Given the description of an element on the screen output the (x, y) to click on. 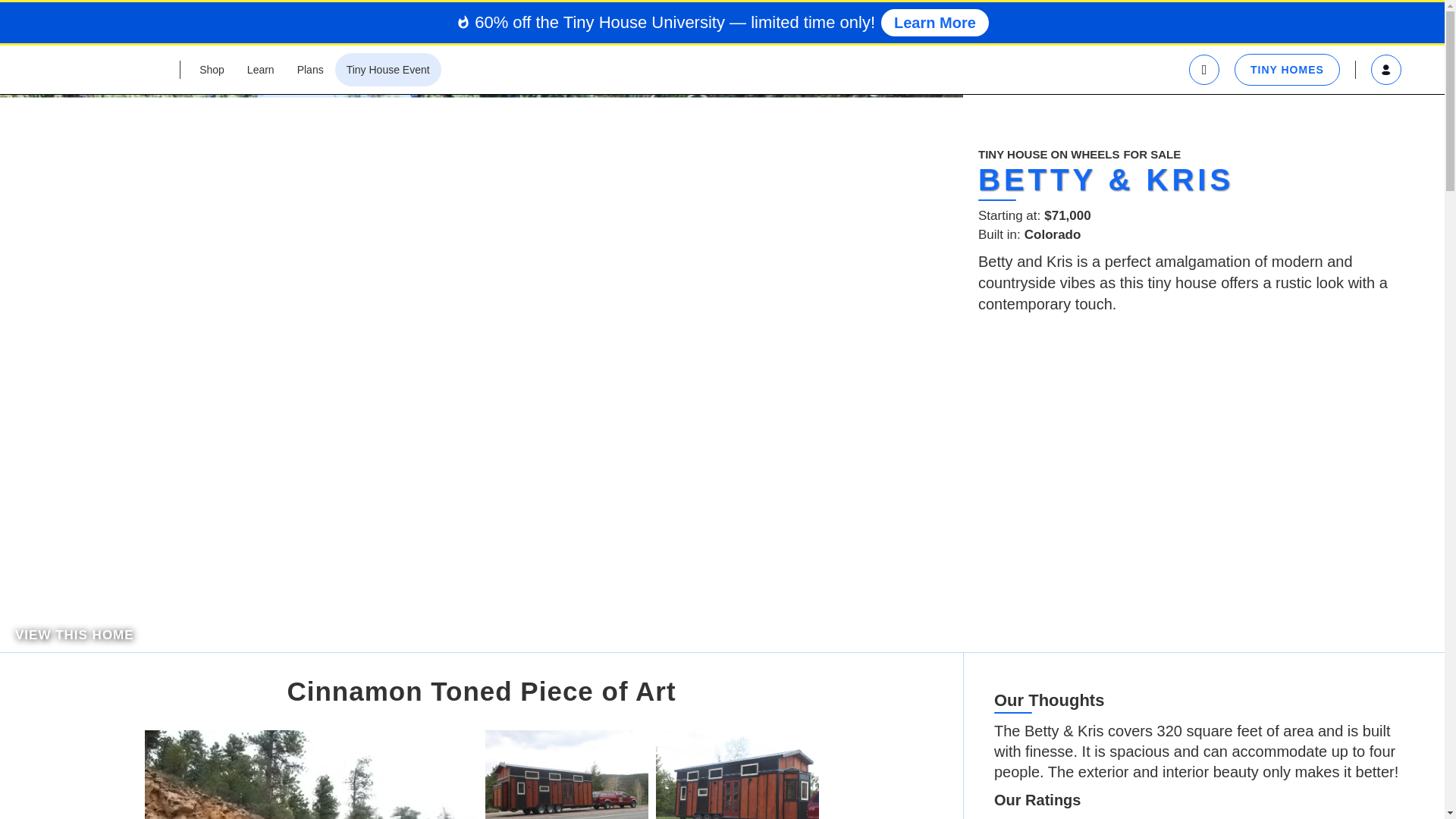
Learn (260, 69)
Shop (211, 69)
Learn More (934, 22)
Tiny House Event (387, 69)
TINY HOMES (1286, 69)
Plans (309, 69)
